Given the description of an element on the screen output the (x, y) to click on. 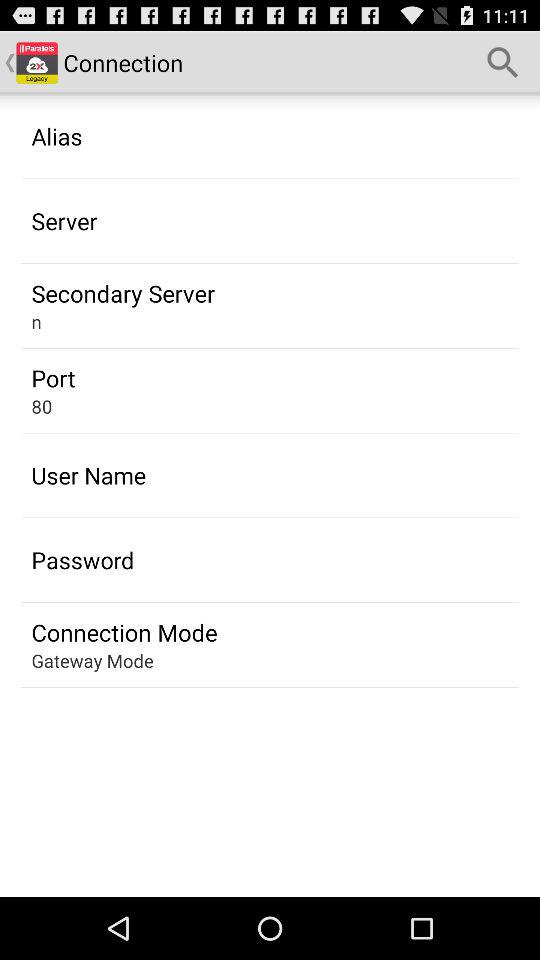
flip until the port item (53, 378)
